Given the description of an element on the screen output the (x, y) to click on. 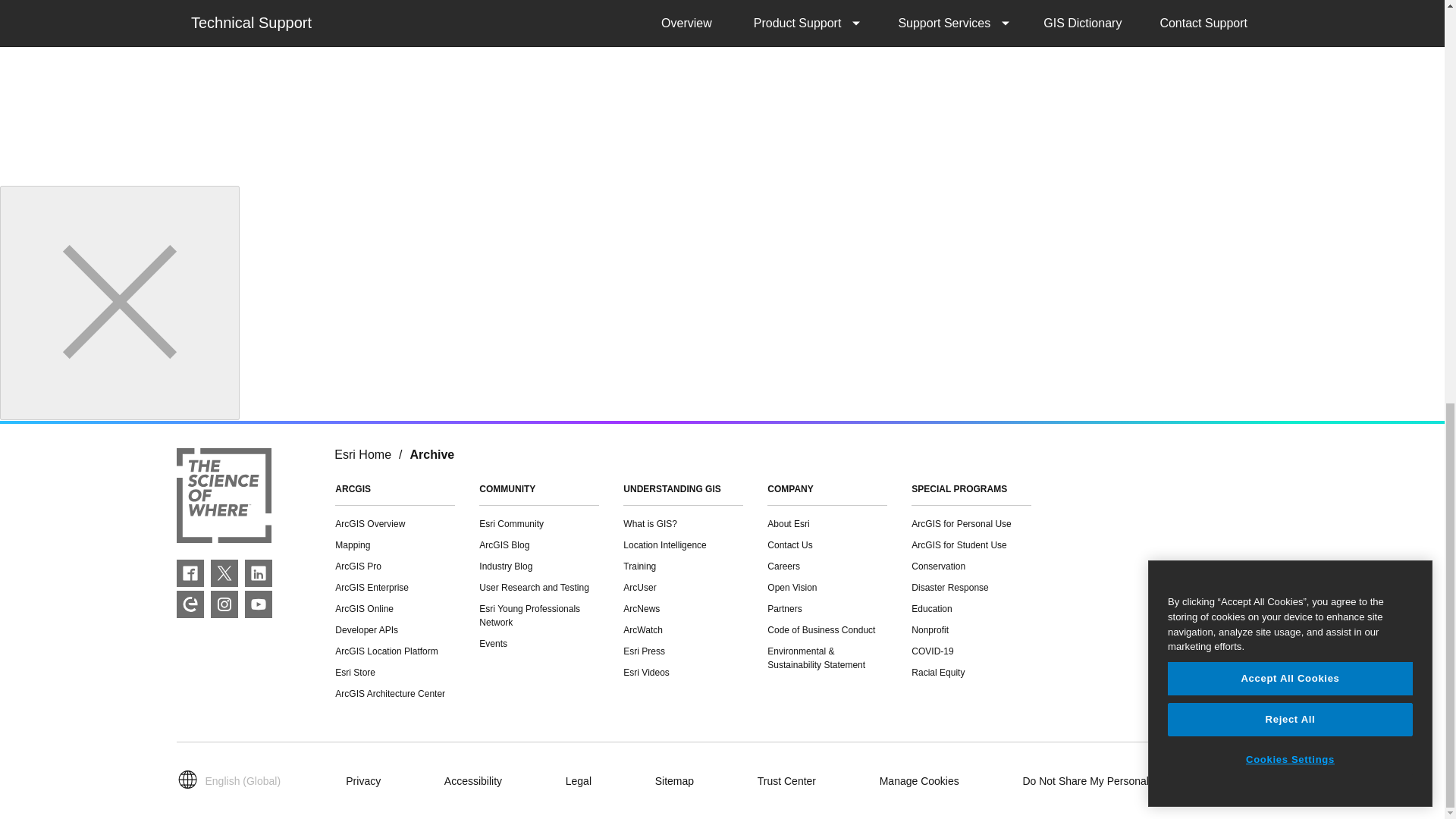
Esri Community (189, 604)
LinkedInLinkedIn (257, 573)
Instagram (224, 604)
Facebook (189, 573)
TwitterTwitter (224, 573)
Esri CommunityEsri Community (189, 604)
More about Esri and the Science of Where (223, 497)
FacebookFacebook (189, 573)
LinkedIn (257, 573)
InstagramInstagram (224, 604)
Twitter (224, 573)
